Given the description of an element on the screen output the (x, y) to click on. 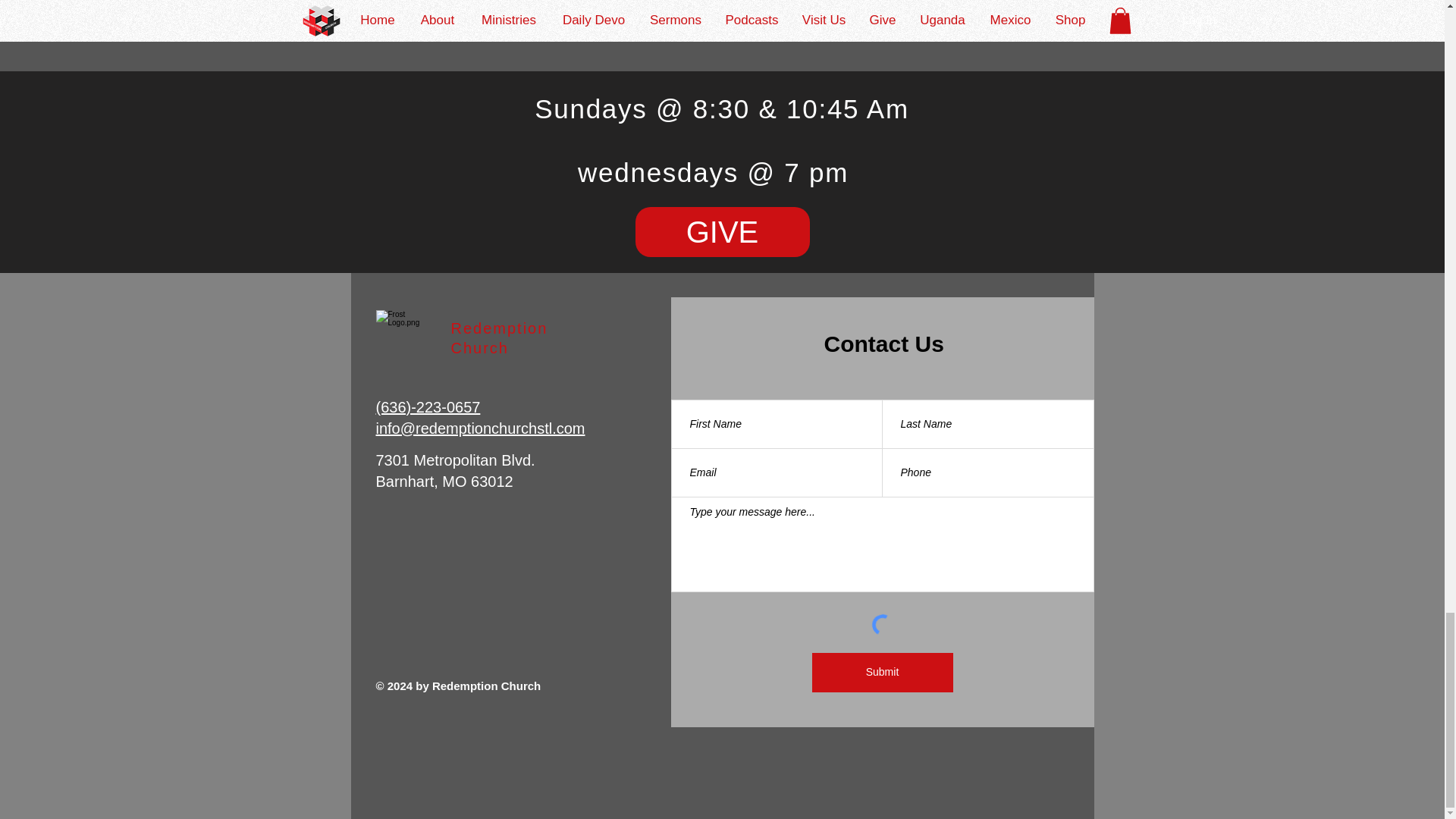
GIVE (721, 232)
Submit (881, 672)
